Given the description of an element on the screen output the (x, y) to click on. 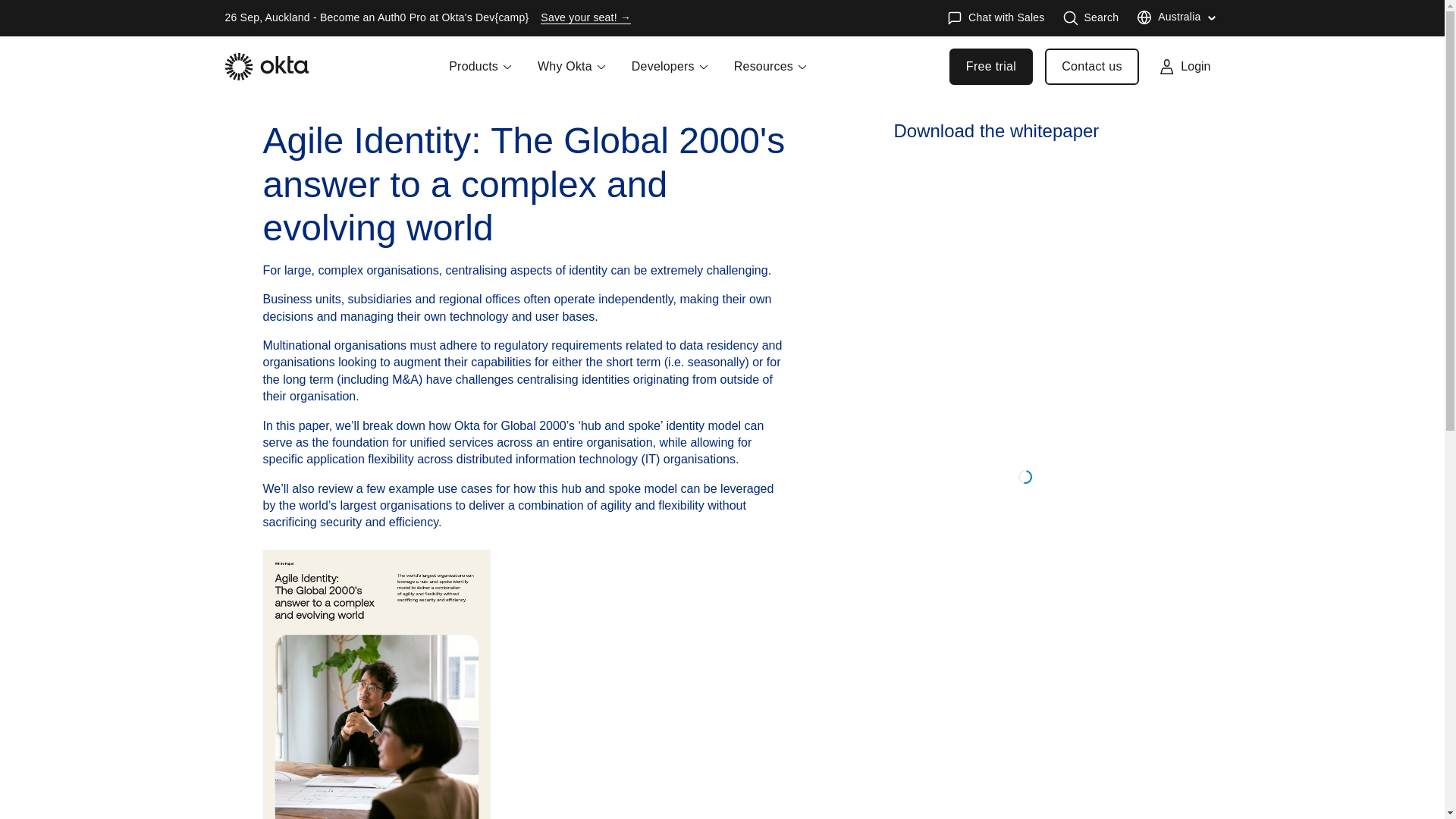
Save your seat! (585, 17)
Why Okta (572, 76)
Search (1090, 18)
Chat with Sales (995, 18)
Products (480, 76)
